Given the description of an element on the screen output the (x, y) to click on. 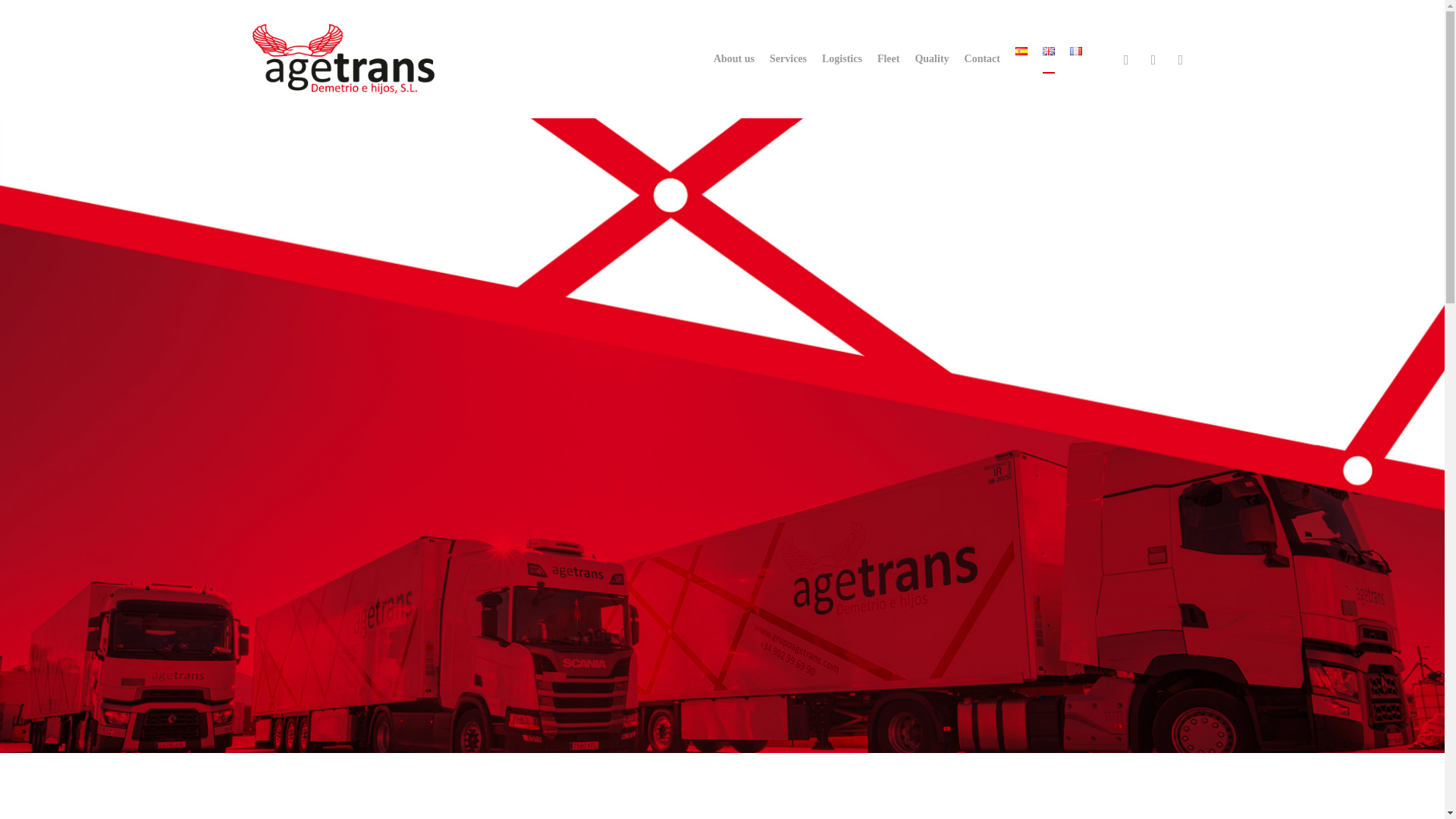
Fleet (888, 58)
Quality (931, 58)
Services (788, 58)
Contact (981, 58)
Logistics (841, 58)
About us (733, 58)
